Given the description of an element on the screen output the (x, y) to click on. 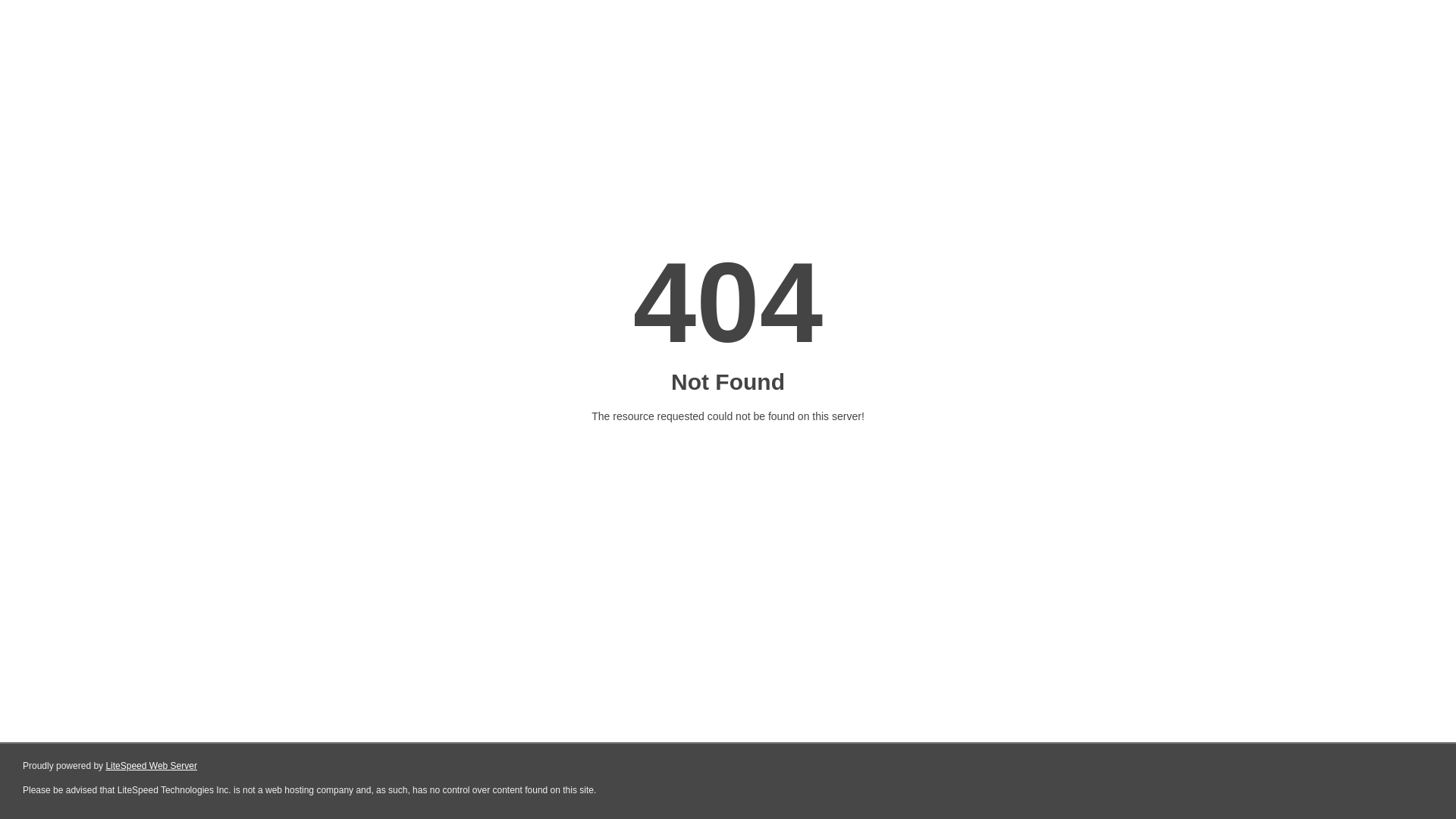
LiteSpeed Web Server Element type: text (151, 765)
